Given the description of an element on the screen output the (x, y) to click on. 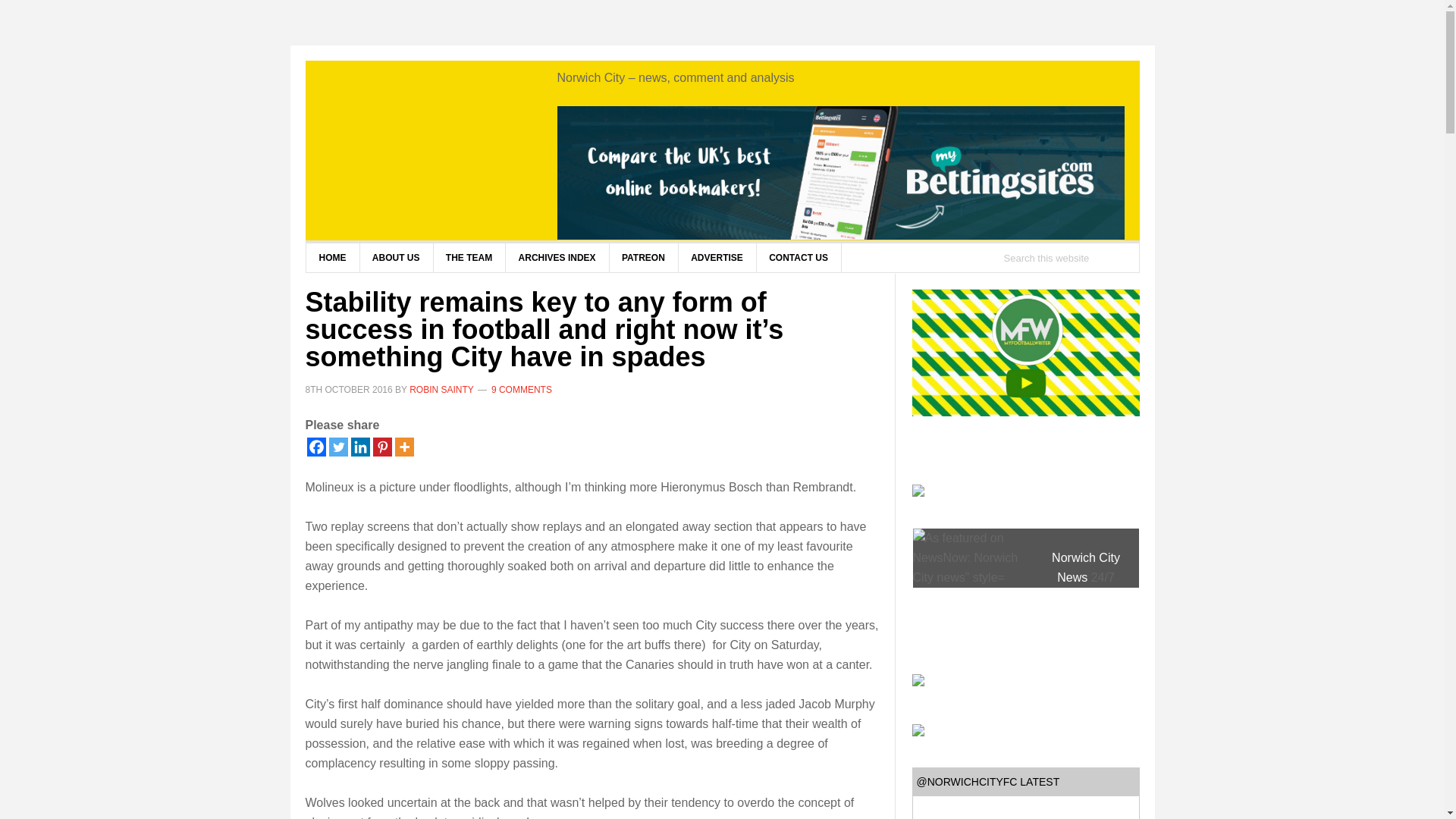
THE TEAM (468, 257)
Pinterest (381, 446)
9 COMMENTS (521, 388)
HOME (332, 257)
ARCHIVES INDEX (557, 257)
More (403, 446)
ABOUT US (396, 257)
ADVERTISE (717, 257)
MY FOOTBALL WRITER (426, 147)
PATREON (643, 257)
CONTACT US (798, 257)
Twitter (338, 446)
Linkedin (359, 446)
